Given the description of an element on the screen output the (x, y) to click on. 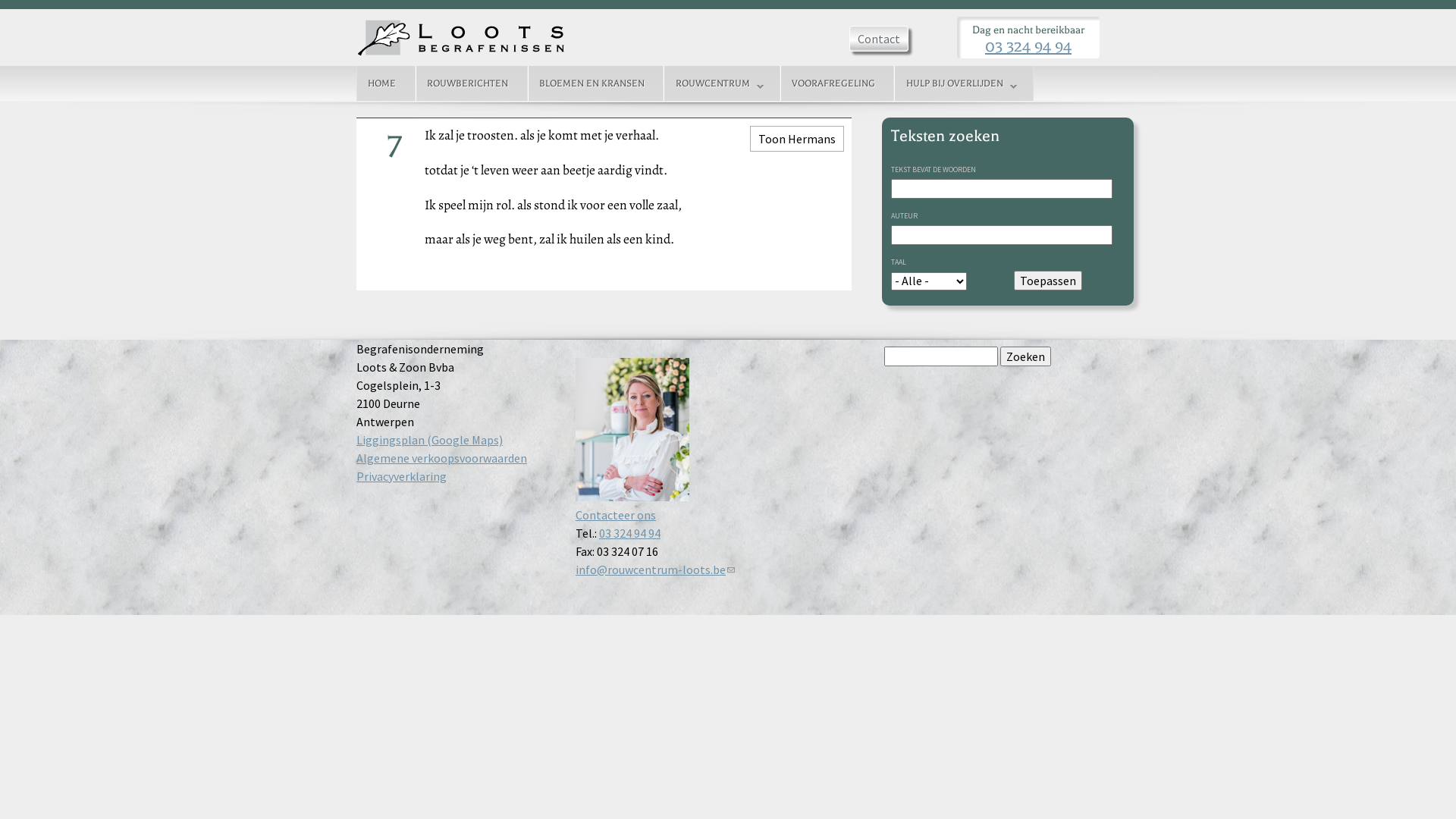
Zoeken Element type: text (1025, 356)
Home Element type: hover (461, 37)
Contact Element type: text (878, 38)
info@rouwcentrum-loots.be
(link sends e-mail) Element type: text (654, 569)
03 324 94 94 Element type: text (629, 532)
Toepassen Element type: text (1047, 280)
ROUWBERICHTEN Element type: text (467, 82)
VOORAFREGELING Element type: text (833, 82)
BLOEMEN EN KRANSEN Element type: text (591, 82)
Algemene verkoopsvoorwaarden Element type: text (441, 457)
03 324 94 94 Element type: text (1028, 46)
Liggingsplan (Google Maps) Element type: text (429, 439)
Contacteer ons Element type: text (615, 514)
Geef de woorden op waarnaar u wilt zoeken. Element type: hover (940, 356)
Privacyverklaring Element type: text (401, 475)
HOME Element type: text (382, 82)
